Given the description of an element on the screen output the (x, y) to click on. 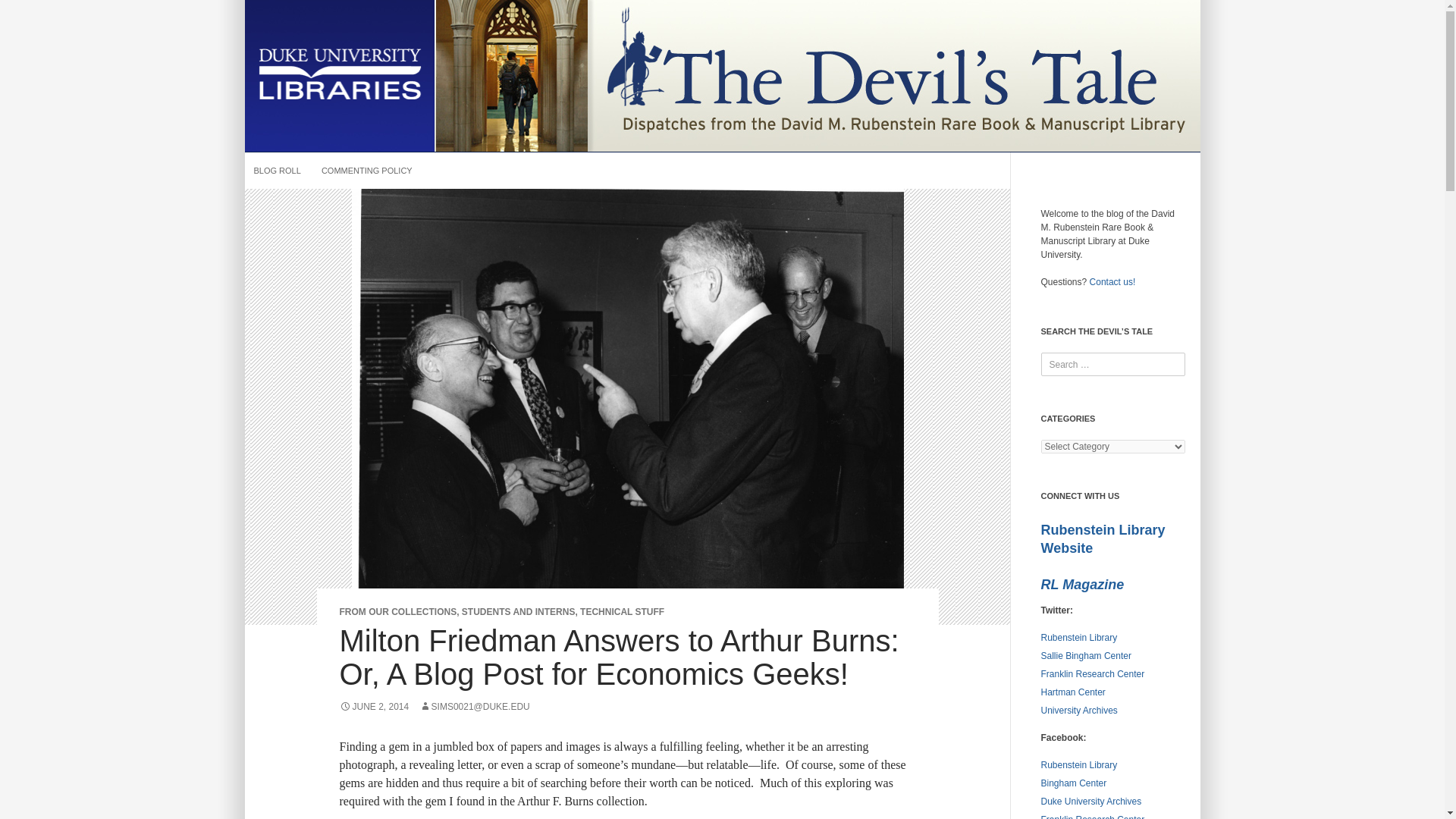
RL Magazine (1082, 584)
JUNE 2, 2014 (374, 706)
Search (27, 11)
University Archives (1078, 710)
Duke University Libraries (338, 74)
Sallie Bingham Center (1086, 655)
Franklin Research Center (1092, 816)
Rubenstein Library (1078, 765)
BLOG ROLL (276, 170)
